Given the description of an element on the screen output the (x, y) to click on. 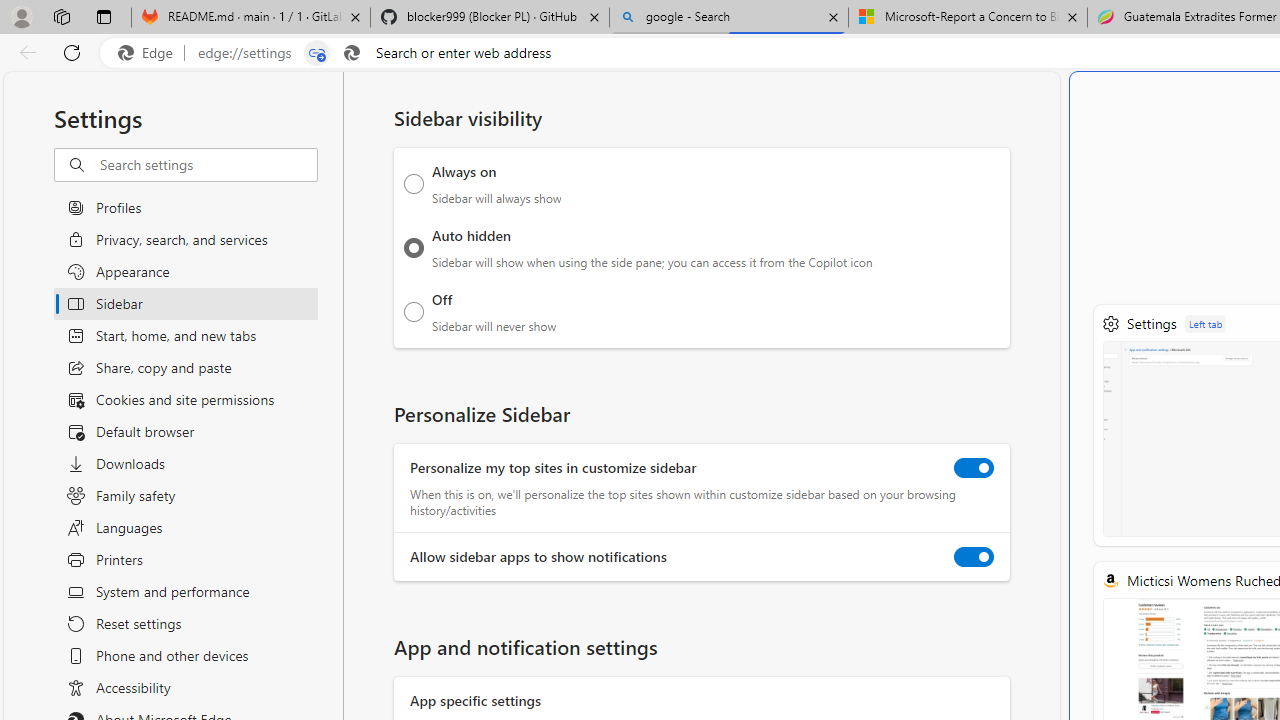
Search icon (351, 53)
google - Search (729, 17)
Edge (150, 53)
Tab actions menu (104, 16)
Close tab (1072, 16)
Allow sidebar apps to show notifications (973, 557)
Search settings (207, 165)
Tabs in split screen (317, 53)
Always on Sidebar will always show (413, 183)
Microsoft-Report a Concern to Bing (967, 17)
Refresh (72, 52)
Back (24, 52)
Personal Profile (21, 16)
Off Sidebar will never show (413, 311)
